Given the description of an element on the screen output the (x, y) to click on. 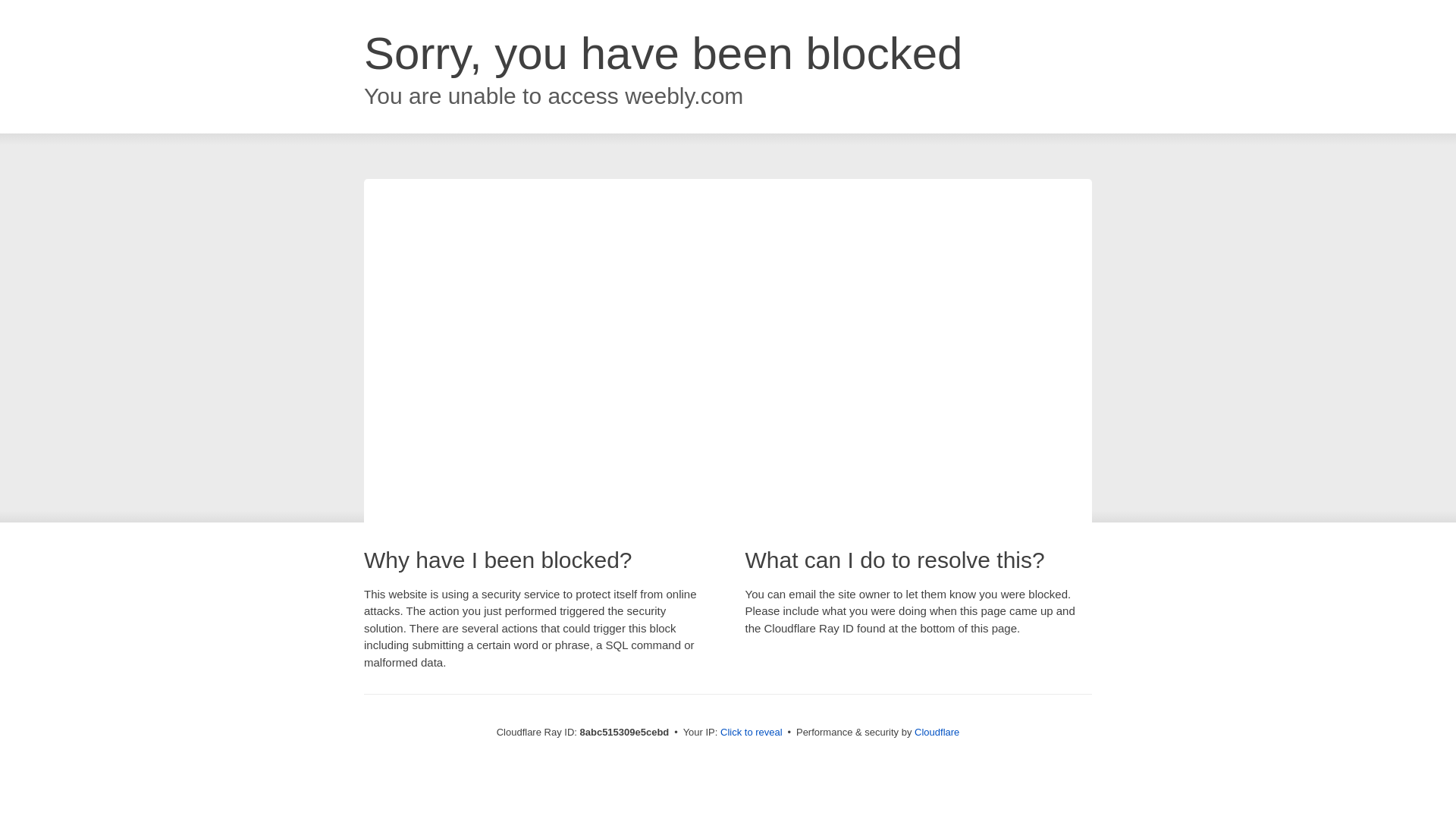
Click to reveal (750, 732)
Cloudflare (936, 731)
